Given the description of an element on the screen output the (x, y) to click on. 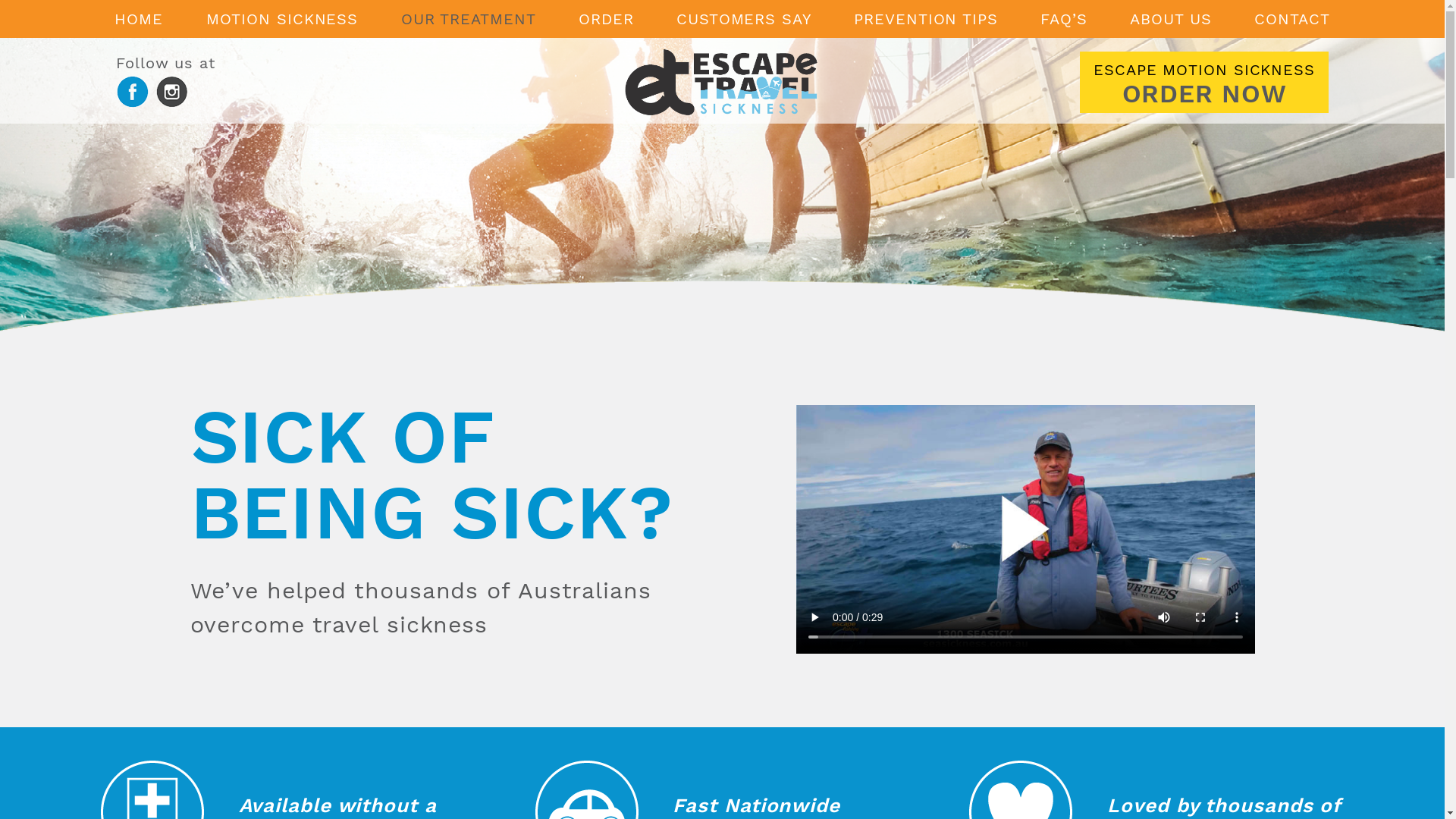
MOTION SICKNESS Element type: text (282, 18)
PREVENTION TIPS Element type: text (925, 18)
ORDER Element type: text (605, 18)
HOME Element type: text (138, 18)
CUSTOMERS SAY Element type: text (743, 18)
OUR TREATMENT Element type: text (468, 18)
Facebook Element type: text (132, 102)
Twitter Element type: text (171, 102)
ABOUT US Element type: text (1170, 18)
ESCAPE MOTION SICKNESS
ORDER NOW Element type: text (1203, 83)
CONTACT Element type: text (1291, 18)
1300 SEASICK Element type: text (63, 133)
